Given the description of an element on the screen output the (x, y) to click on. 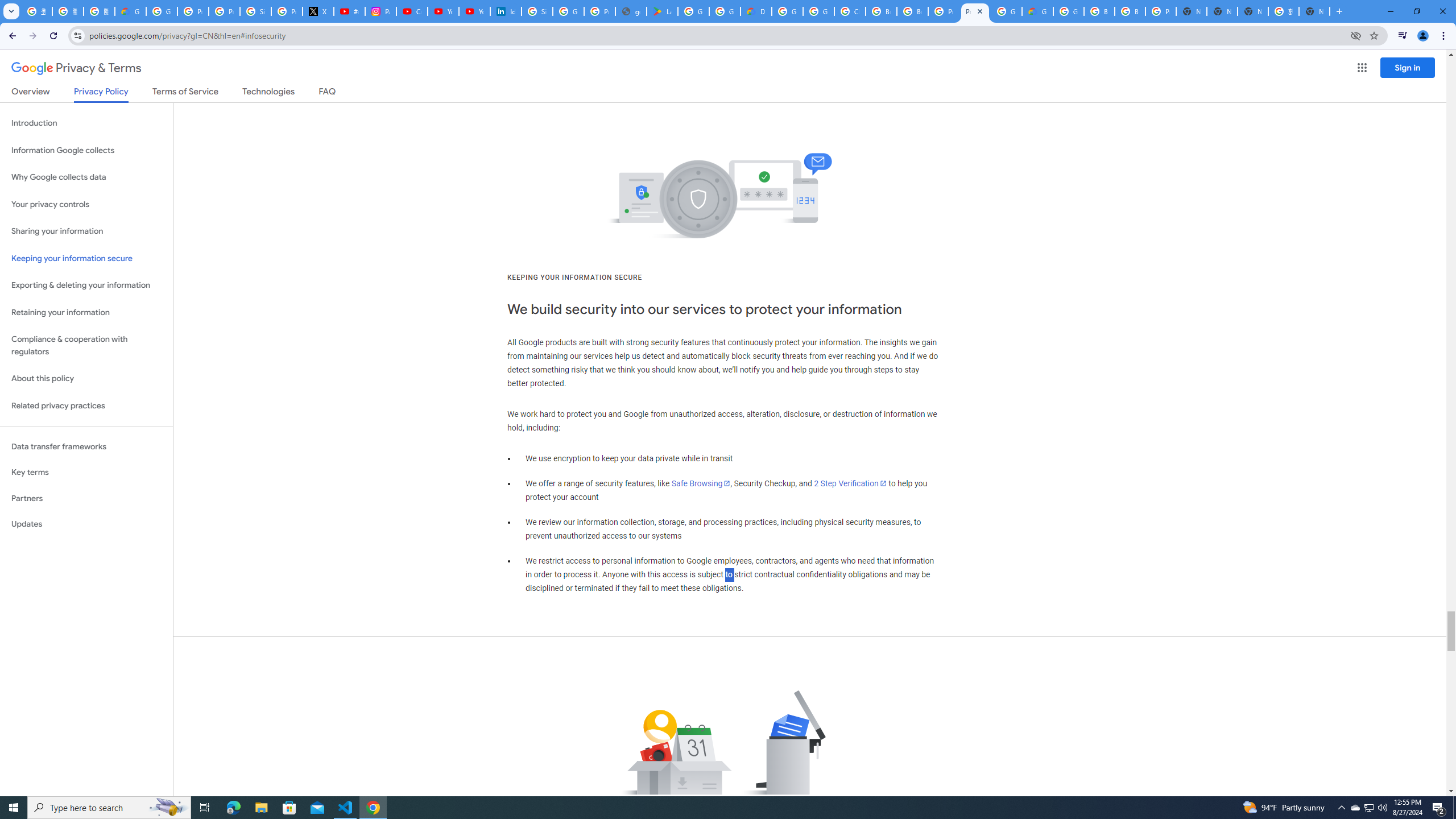
Control your music, videos, and more (1402, 35)
Back (10, 35)
About this policy (86, 379)
Restore (1416, 11)
Chrome (1445, 35)
Introduction (86, 122)
Privacy Policy (100, 94)
Close (980, 11)
Related privacy practices (86, 405)
Overview (30, 93)
View site information (77, 35)
Reload (52, 35)
